Given the description of an element on the screen output the (x, y) to click on. 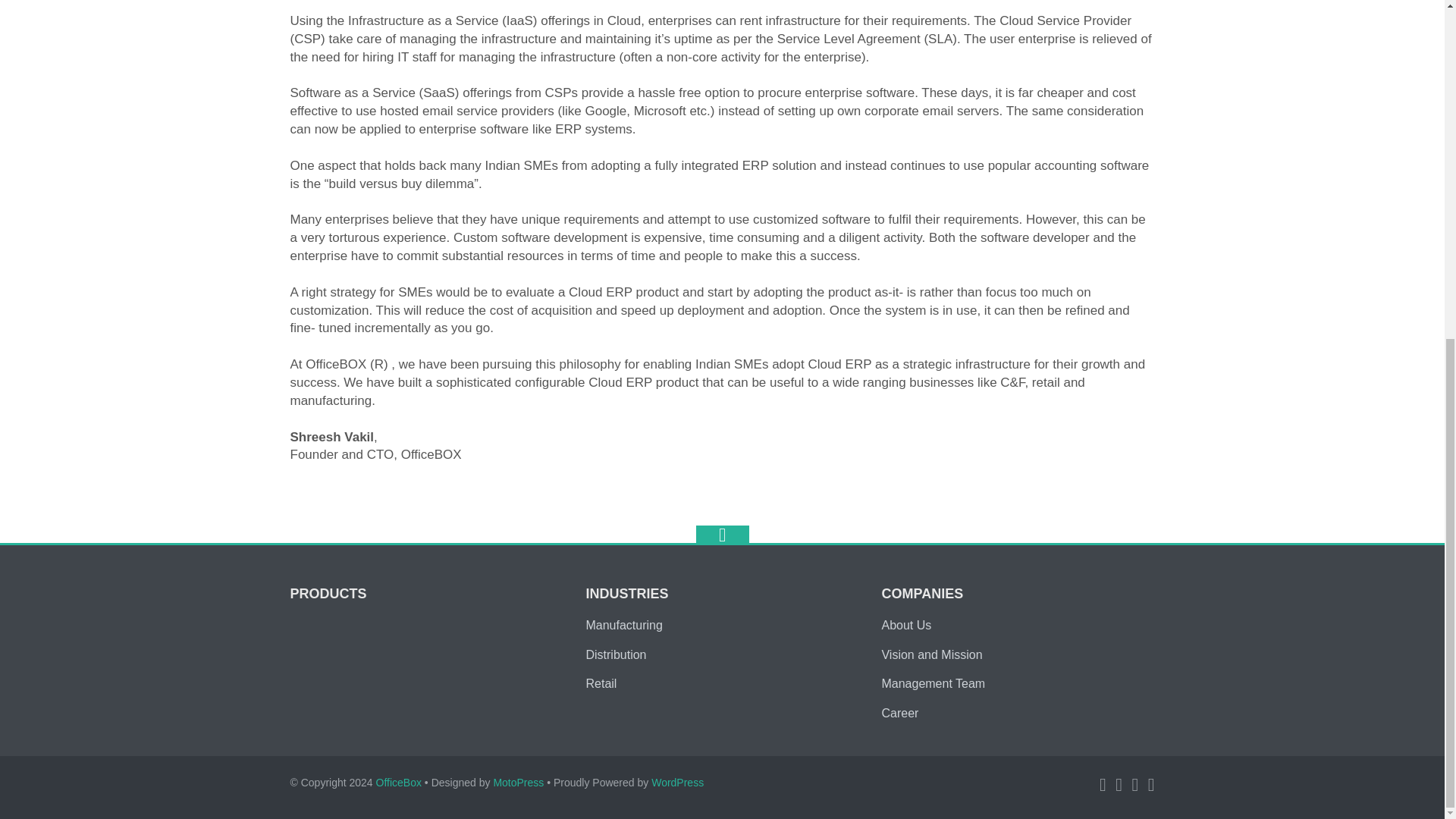
OfficeBox (398, 782)
Vision and Mission (930, 654)
Manufacturing  (625, 625)
OfficeBox (398, 782)
Career (899, 712)
About Us (905, 625)
Distribution (615, 654)
Semantic Personal Publishing Platform (676, 782)
MotoPress (518, 782)
Management Team (932, 683)
Retail (600, 683)
Premium WordPress Plugins and Themes (518, 782)
